Given the description of an element on the screen output the (x, y) to click on. 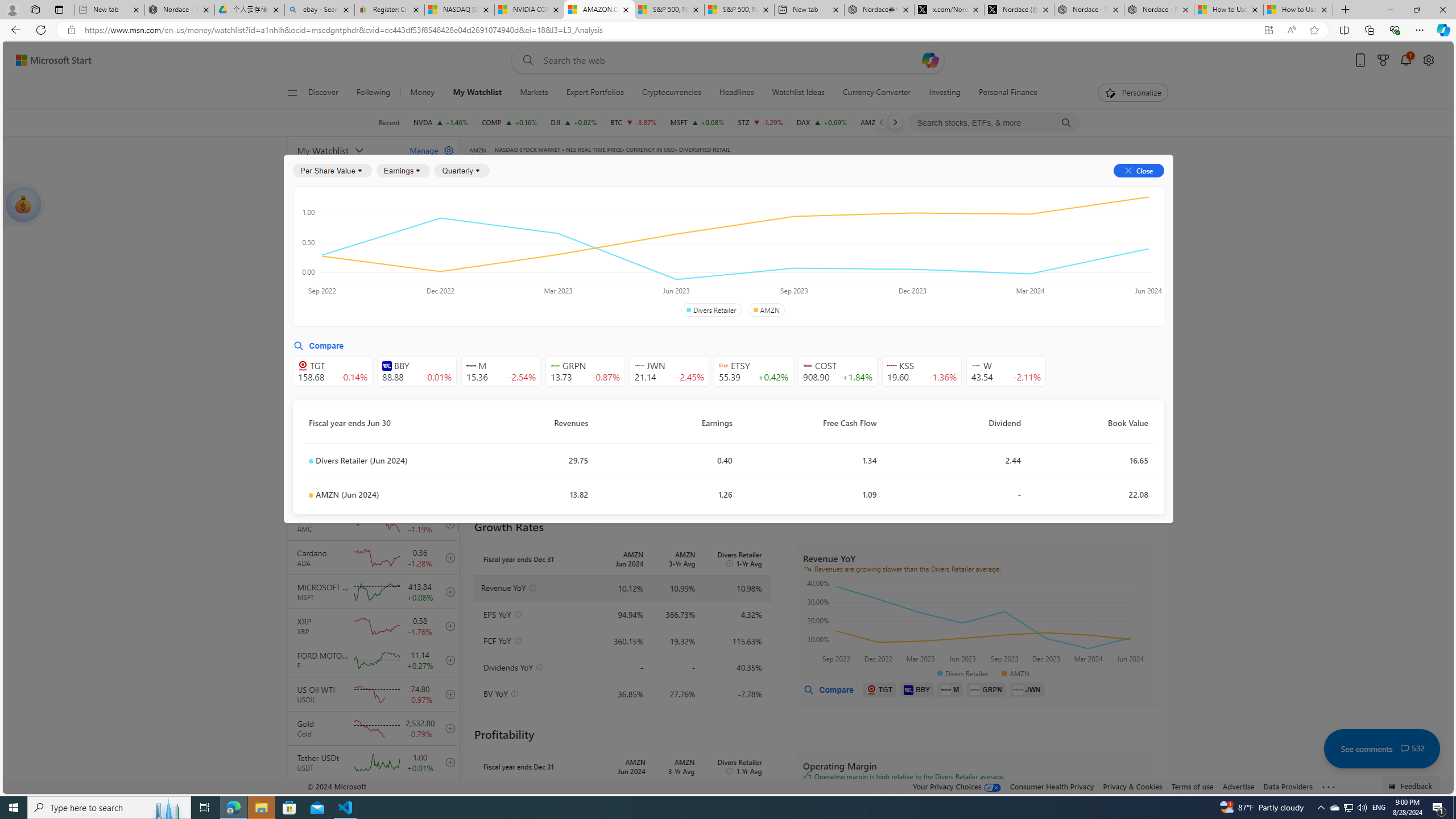
See more (1328, 787)
Leverage & Liquidity (782, 253)
Efficiency (850, 253)
Sentiment (1066, 188)
GRPN (986, 689)
Personal Finance (1008, 92)
